Given the description of an element on the screen output the (x, y) to click on. 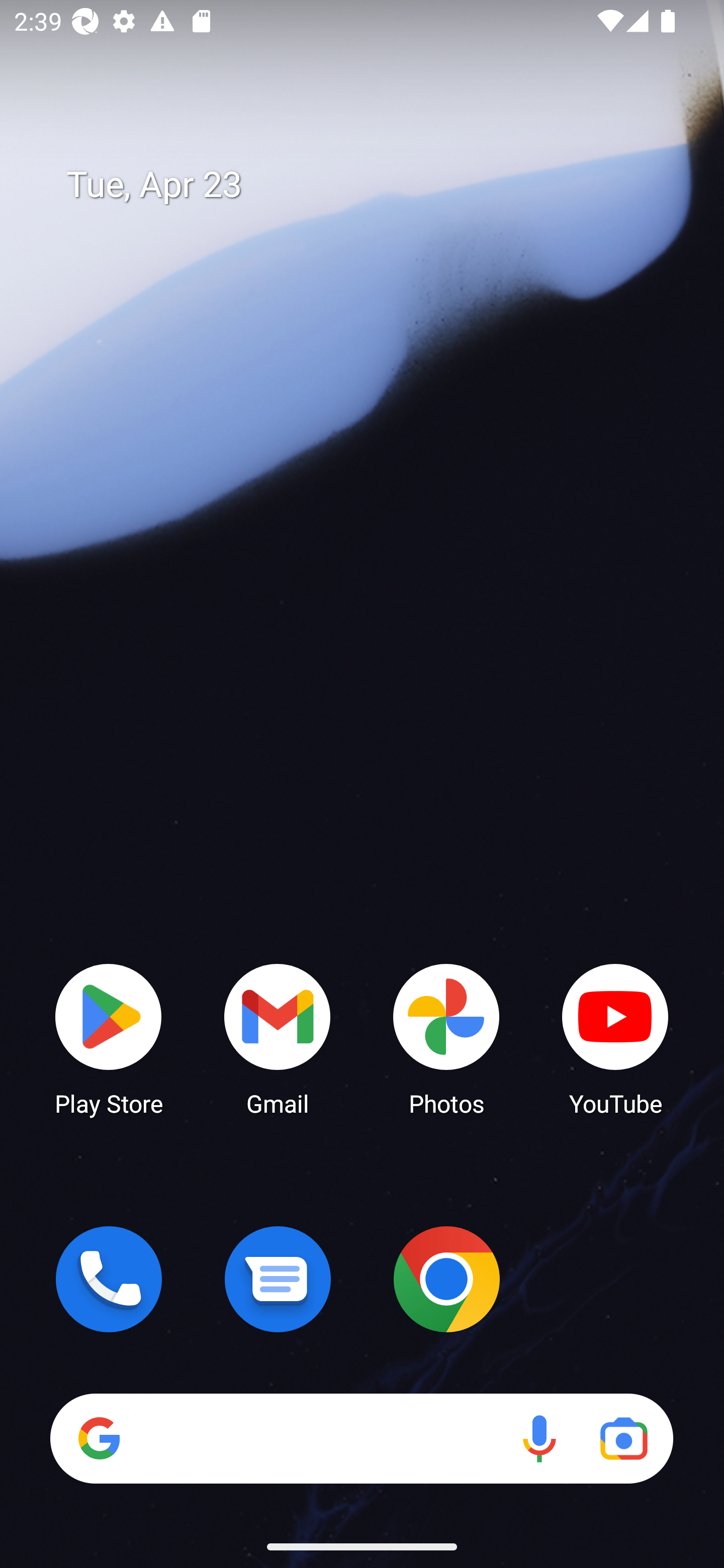
Tue, Apr 23 (375, 184)
Play Store (108, 1038)
Gmail (277, 1038)
Photos (445, 1038)
YouTube (615, 1038)
Phone (108, 1279)
Messages (277, 1279)
Chrome (446, 1279)
Search Voice search Google Lens (361, 1438)
Voice search (539, 1438)
Google Lens (623, 1438)
